Given the description of an element on the screen output the (x, y) to click on. 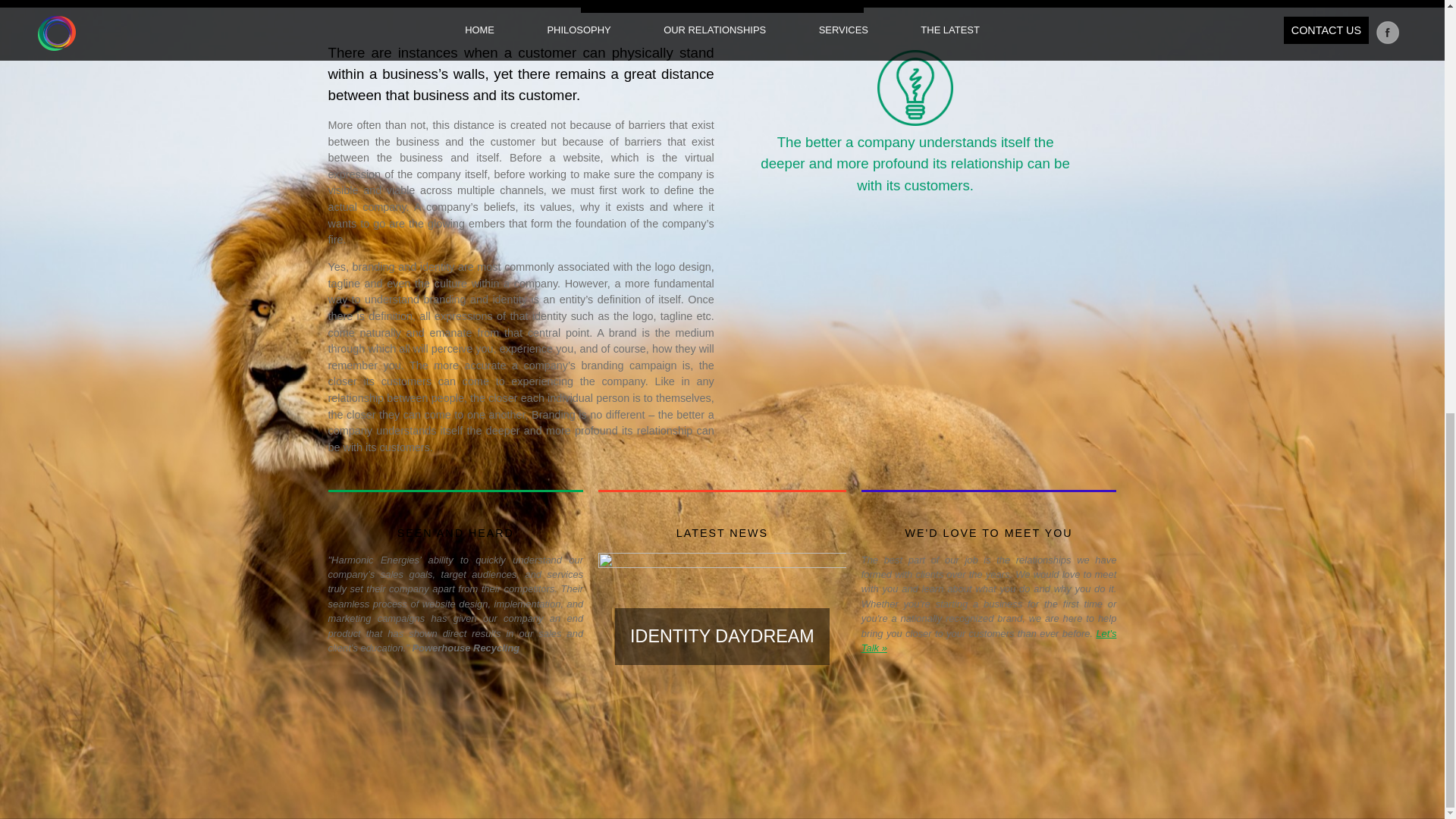
EDUCATION (870, 766)
HOME (601, 743)
BRANDING AND IDENTITY (895, 743)
WEBSITE CREATION (757, 743)
SOCIAL MEDIA (747, 766)
ROI TOOLS (869, 755)
CONTACT US (1002, 755)
OUR RELATIONSHIPS (630, 755)
Let's Talk (988, 640)
THE LATEST (1001, 743)
IDENTITY DAYDREAM (721, 636)
